Given the description of an element on the screen output the (x, y) to click on. 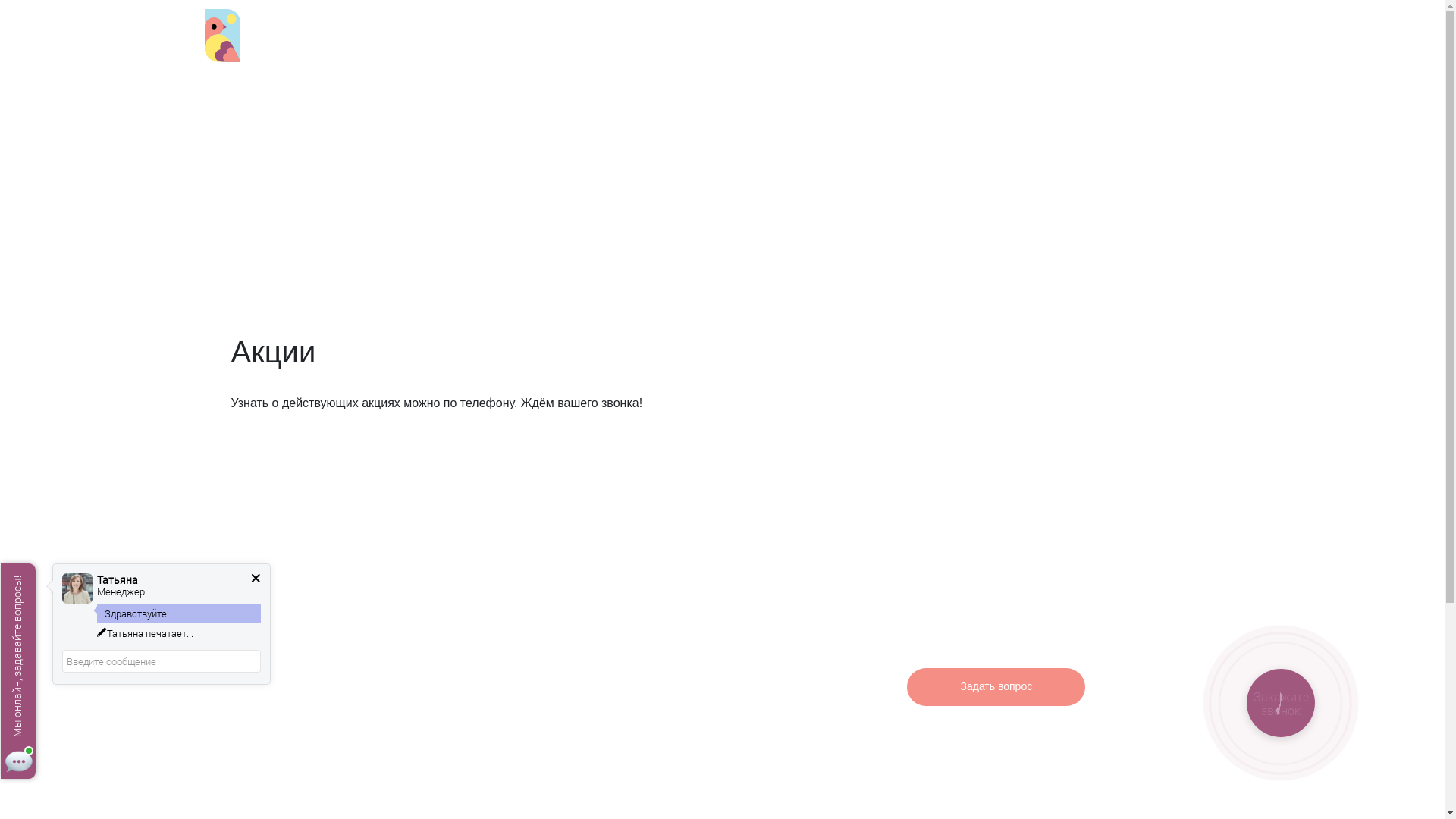
+375 (33) 362-80-91 Element type: text (1033, 625)
+375 (33) 362-80-91 Element type: text (420, 38)
